Given the description of an element on the screen output the (x, y) to click on. 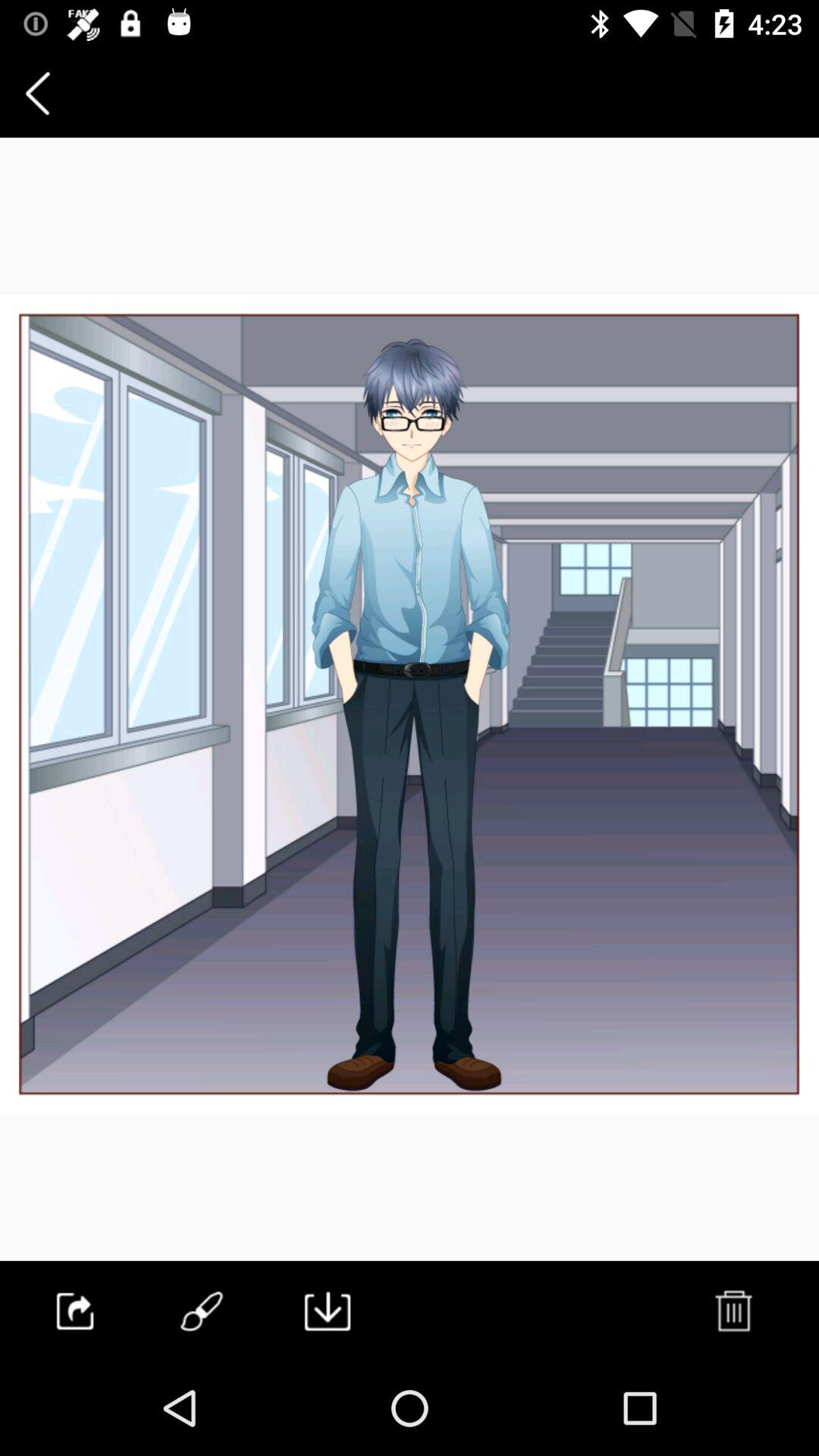
click the icon at the bottom right corner (732, 1310)
